Given the description of an element on the screen output the (x, y) to click on. 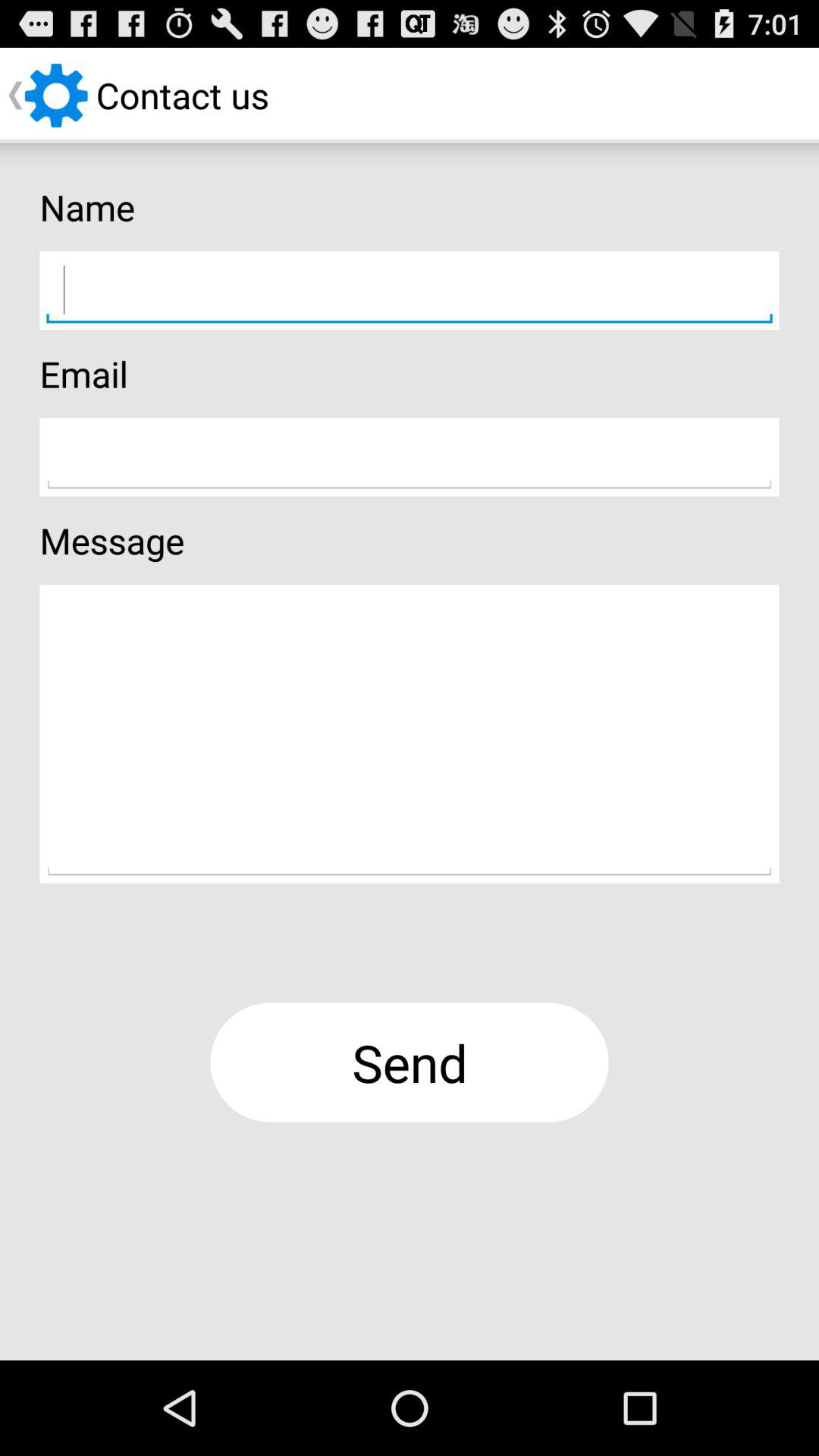
enter contact message (409, 733)
